Given the description of an element on the screen output the (x, y) to click on. 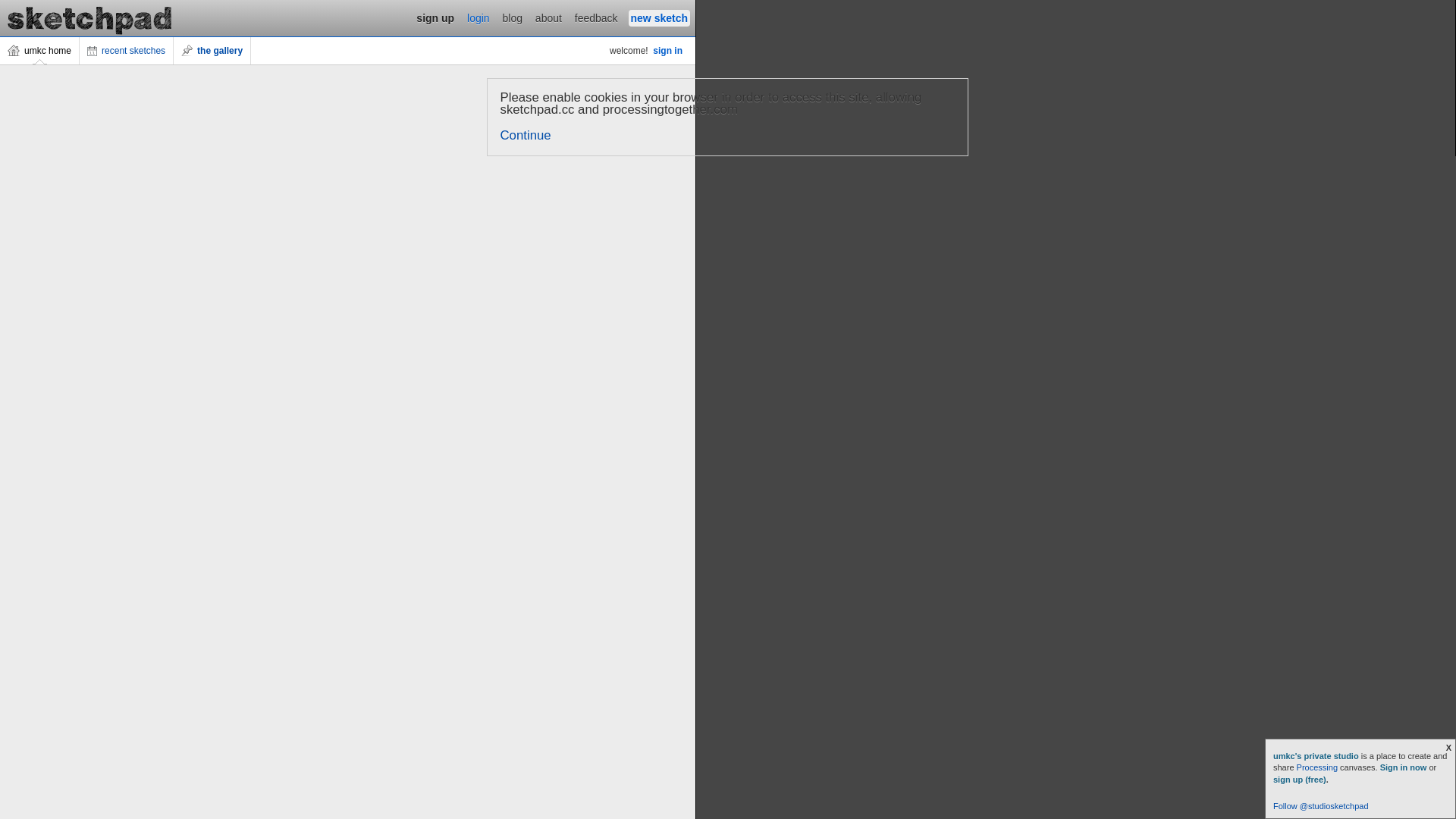
the gallery Element type: text (212, 50)
sign up (free) Element type: text (1299, 779)
blog Element type: text (512, 17)
umkc home Element type: text (39, 50)
about Element type: text (548, 17)
sign up Element type: text (435, 17)
recent sketches Element type: text (126, 50)
Studio Sketchpad is Processing on Etherpad Element type: hover (90, 18)
Sign in now Element type: text (1403, 766)
sign in Element type: text (667, 50)
Processing Element type: text (1316, 766)
login Element type: text (478, 17)
Follow @studiosketchpad Element type: text (1320, 805)
new sketch Element type: text (659, 17)
umkc's private studio Element type: text (1317, 755)
Continue Element type: text (525, 135)
feedback Element type: text (596, 17)
